Given the description of an element on the screen output the (x, y) to click on. 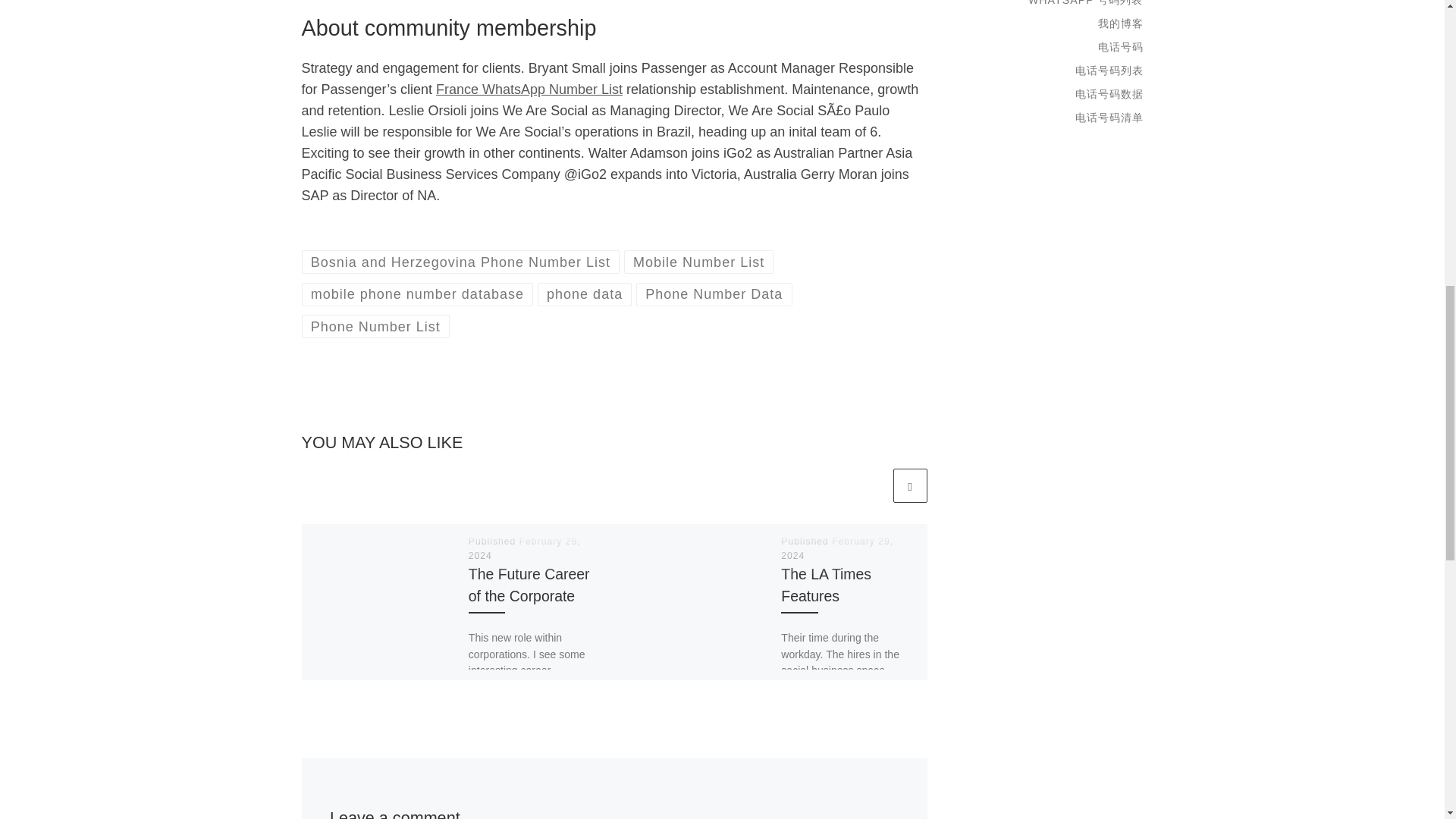
View all posts in mobile phone number database (417, 294)
View all posts in phone data (584, 294)
Previous related articles (872, 485)
The LA Times Features (825, 584)
France WhatsApp Number List (529, 89)
Next related articles (910, 485)
February 29, 2024 (524, 548)
Bosnia and Herzegovina Phone Number List (460, 261)
mobile phone number database (417, 294)
View all posts in Phone Number List (375, 326)
